Given the description of an element on the screen output the (x, y) to click on. 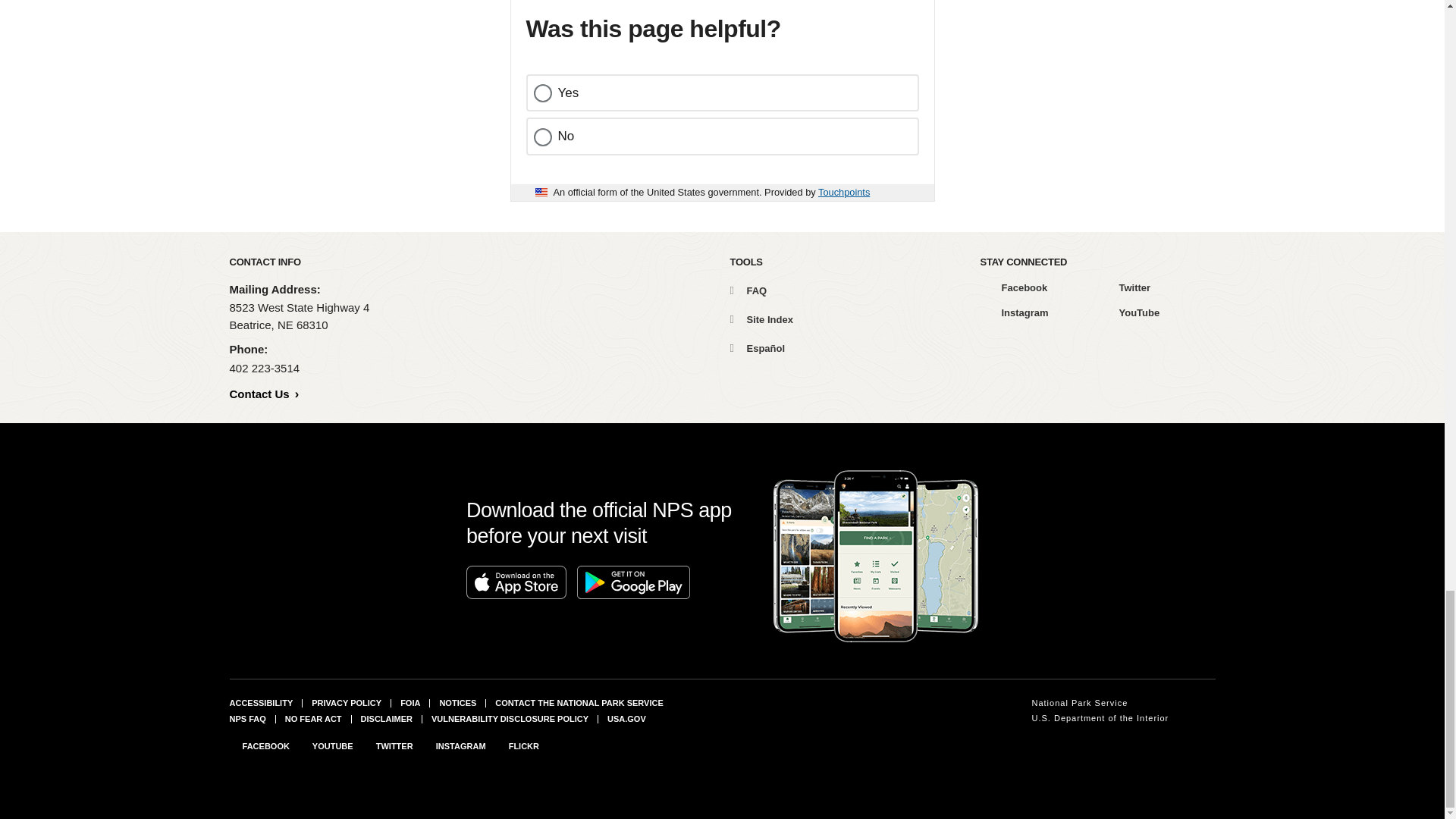
National Park Service frequently asked questions (246, 718)
